Given the description of an element on the screen output the (x, y) to click on. 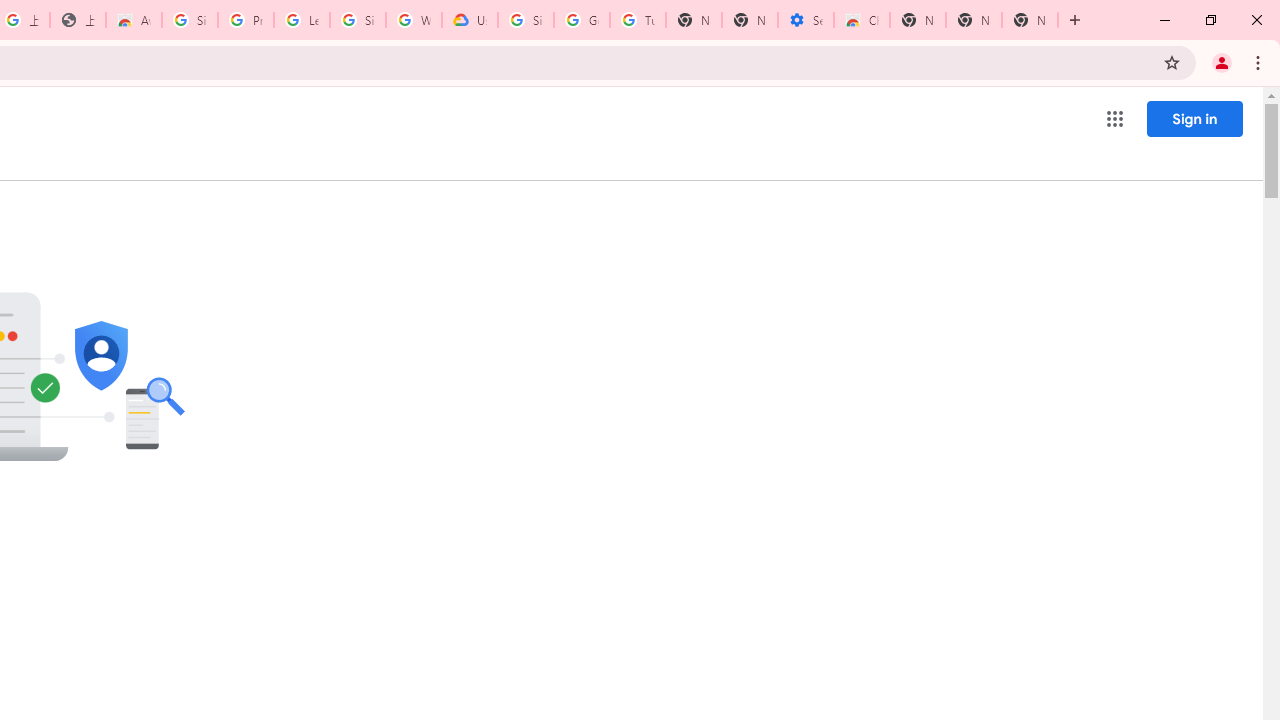
Sign in - Google Accounts (525, 20)
Settings - Accessibility (806, 20)
Google Account Help (582, 20)
Who are Google's partners? - Privacy and conditions - Google (413, 20)
Chrome Web Store - Accessibility extensions (861, 20)
Awesome Screen Recorder & Screenshot - Chrome Web Store (134, 20)
Sign in - Google Accounts (189, 20)
